Given the description of an element on the screen output the (x, y) to click on. 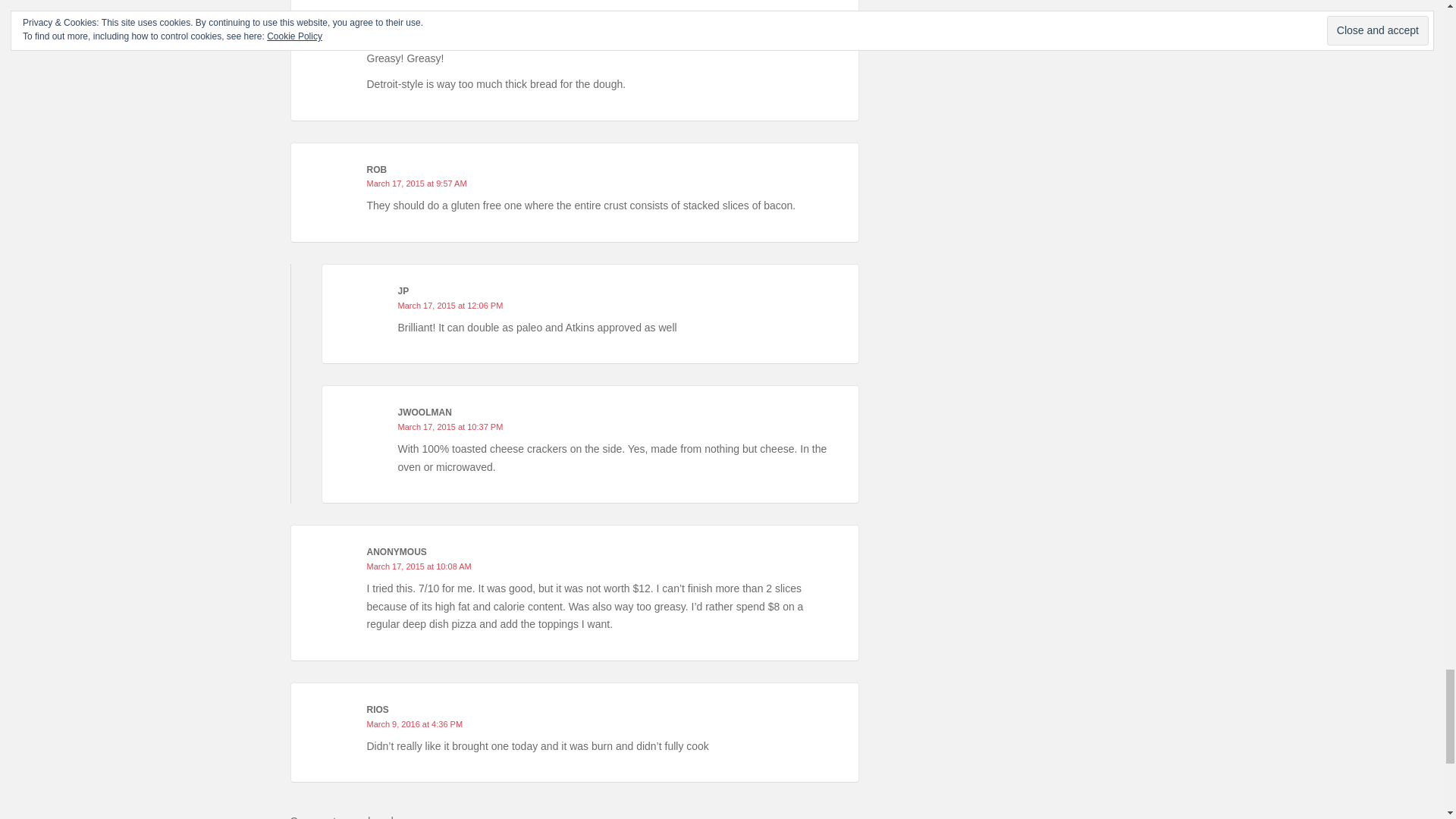
March 17, 2015 at 9:57 AM (416, 183)
March 17, 2015 at 12:06 PM (449, 305)
March 17, 2015 at 9:37 AM (416, 35)
March 17, 2015 at 10:08 AM (418, 565)
March 17, 2015 at 10:37 PM (449, 426)
March 9, 2016 at 4:36 PM (414, 723)
